Given the description of an element on the screen output the (x, y) to click on. 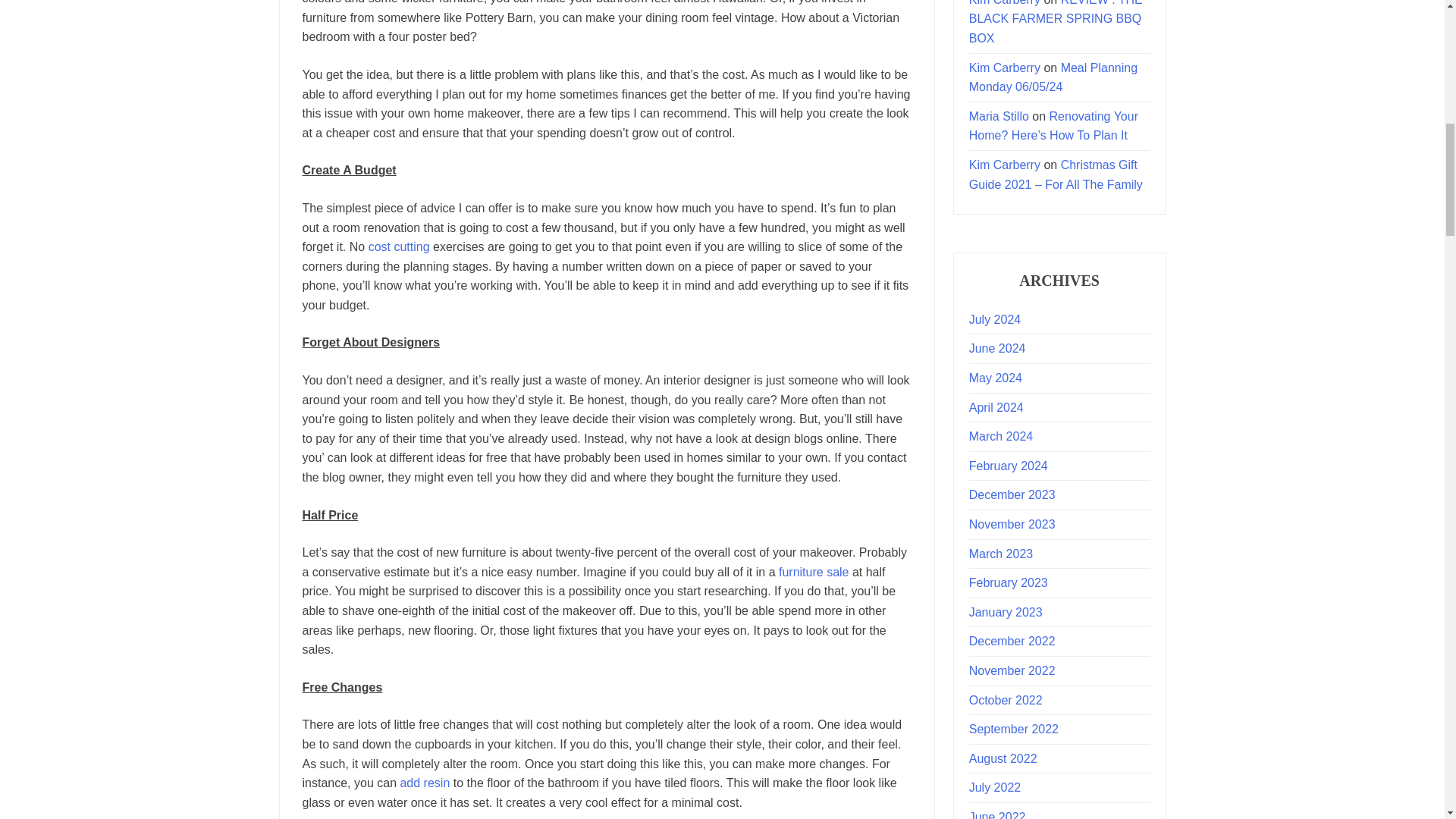
add resin (423, 782)
Kim Carberry (1005, 2)
cost cutting (398, 246)
furniture sale (813, 571)
Kim Carberry (1005, 67)
REVIEW : THE BLACK FARMER SPRING BBQ BOX (1055, 22)
